Given the description of an element on the screen output the (x, y) to click on. 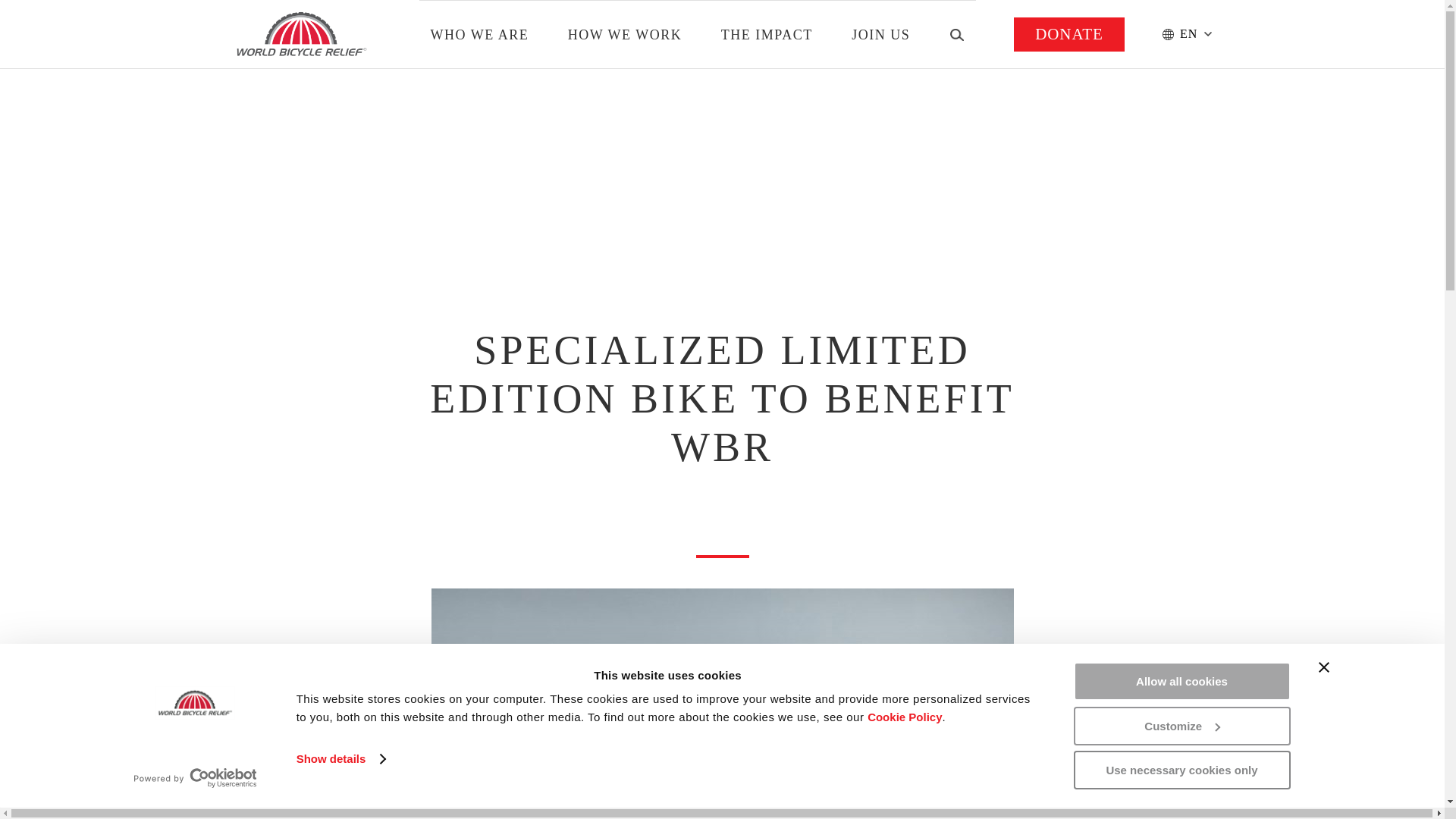
Cookie Policy (904, 716)
Show details (341, 758)
